Given the description of an element on the screen output the (x, y) to click on. 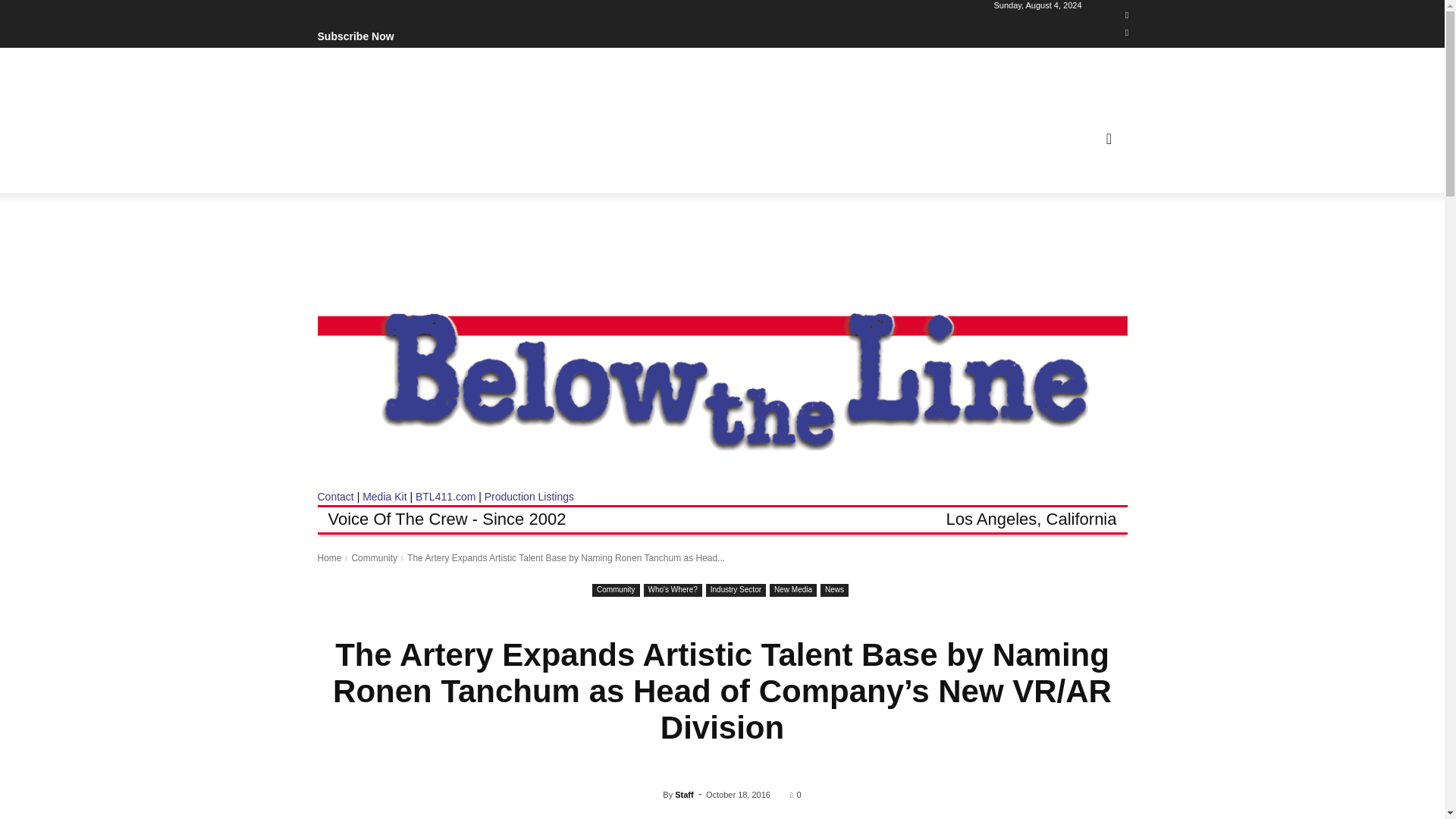
Staff (652, 794)
Facebook (1126, 15)
View all posts in Community (373, 557)
Twitter (1126, 32)
